Given the description of an element on the screen output the (x, y) to click on. 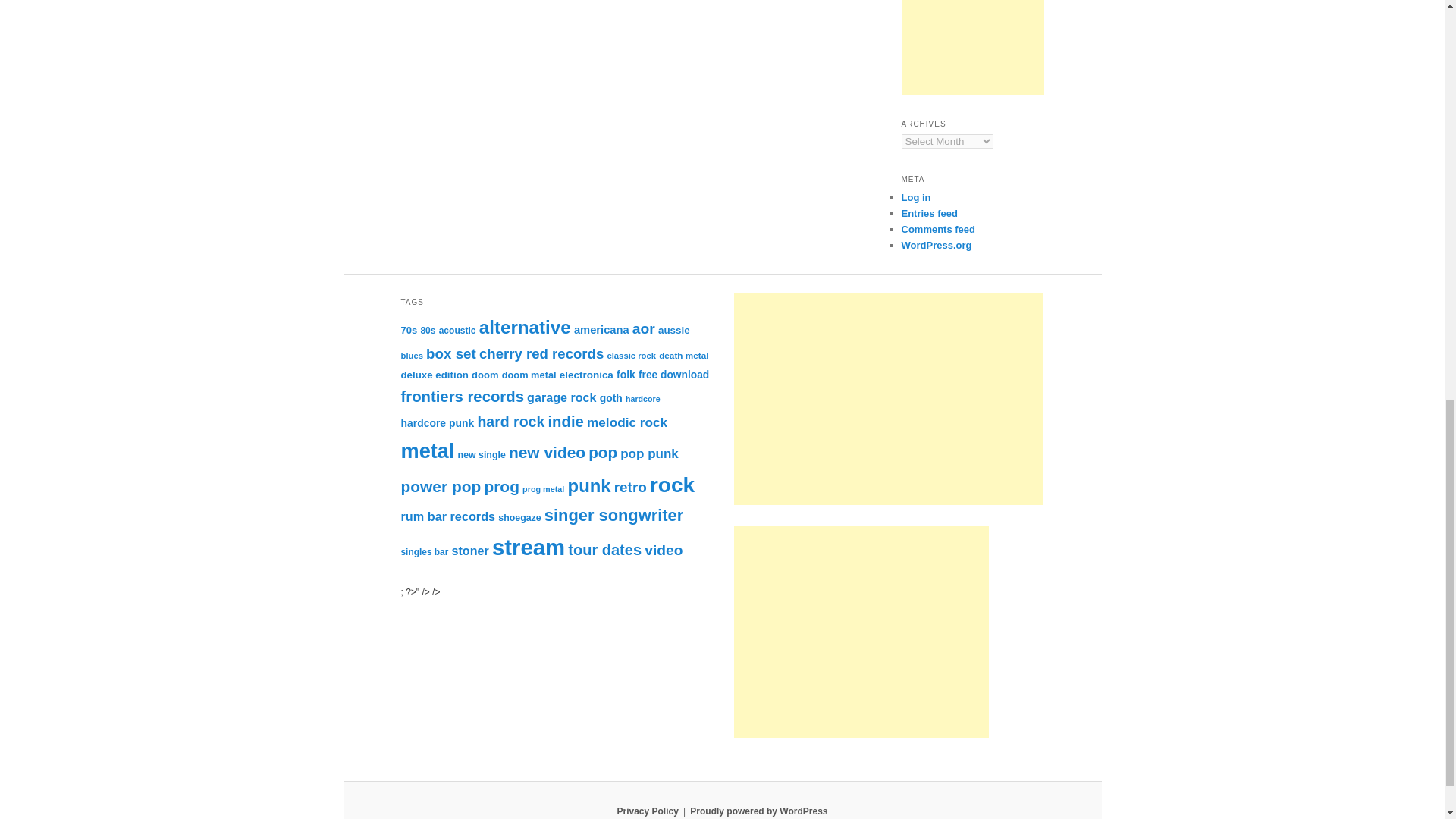
80s (427, 330)
Comments feed (938, 229)
Log in (915, 197)
70s (408, 329)
Semantic Personal Publishing Platform (758, 810)
WordPress.org (936, 244)
Entries feed (928, 213)
acoustic (457, 330)
